Given the description of an element on the screen output the (x, y) to click on. 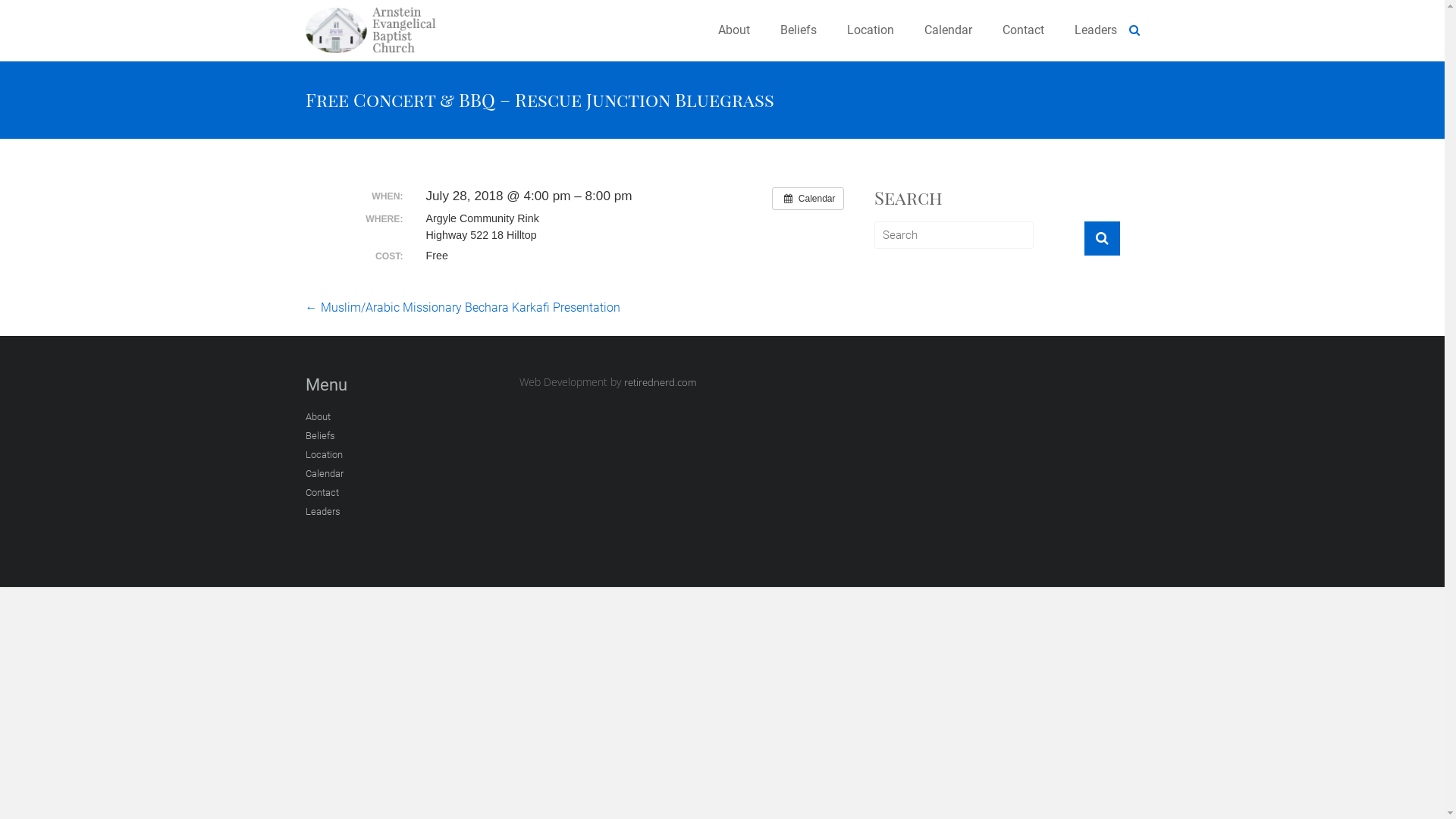
retirednerd.com Element type: text (660, 382)
Beliefs Element type: text (319, 436)
Beliefs Element type: text (797, 29)
Calendar Element type: text (807, 198)
About Element type: text (733, 29)
Contact Element type: text (321, 493)
Leaders Element type: text (1094, 29)
Contact Element type: text (1023, 29)
Location Element type: text (323, 455)
Calendar Element type: text (323, 474)
Location Element type: text (869, 29)
About Element type: text (316, 417)
Calendar Element type: text (947, 29)
Leaders Element type: text (321, 512)
